Given the description of an element on the screen output the (x, y) to click on. 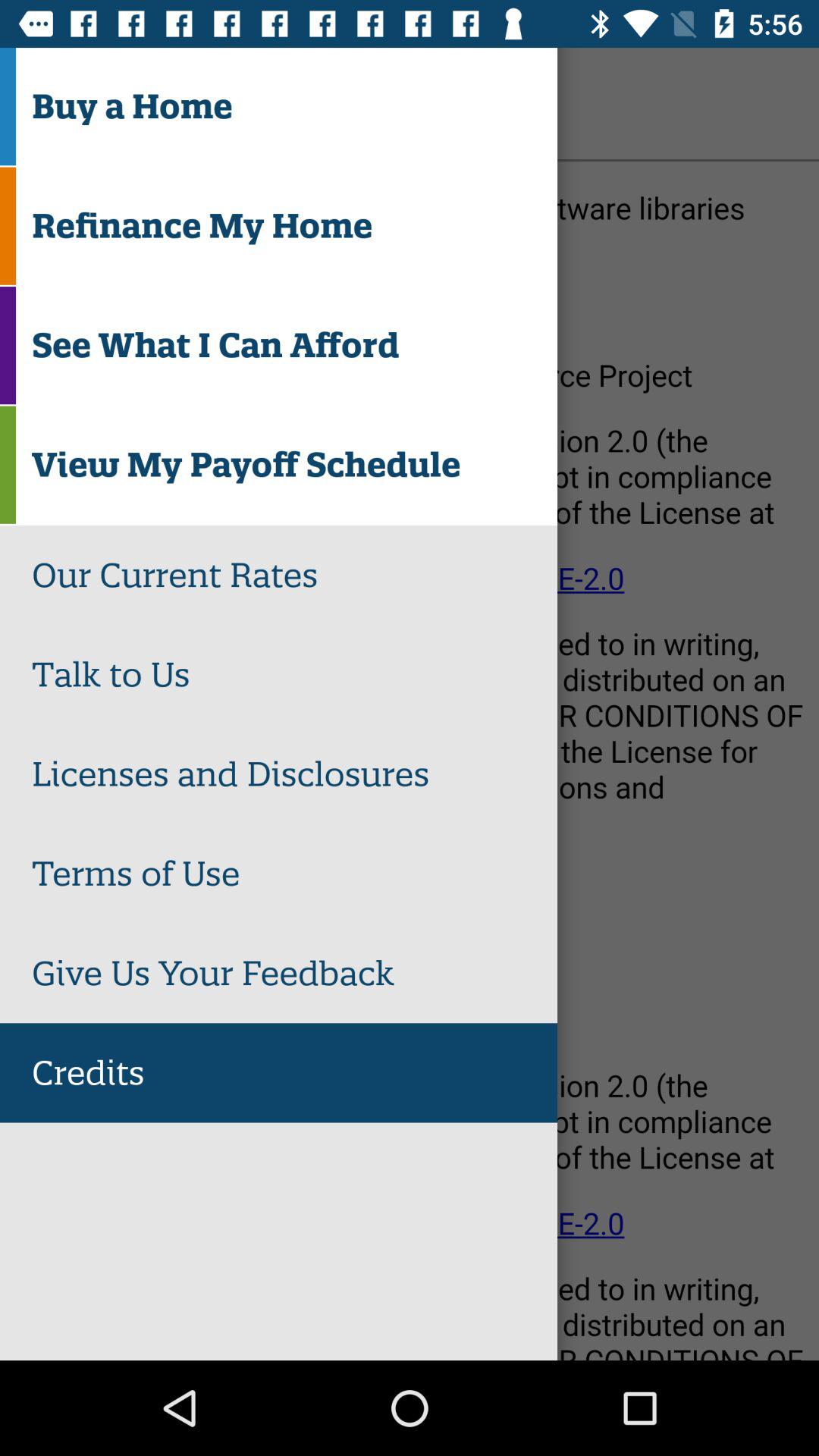
scroll to our current rates item (294, 575)
